Given the description of an element on the screen output the (x, y) to click on. 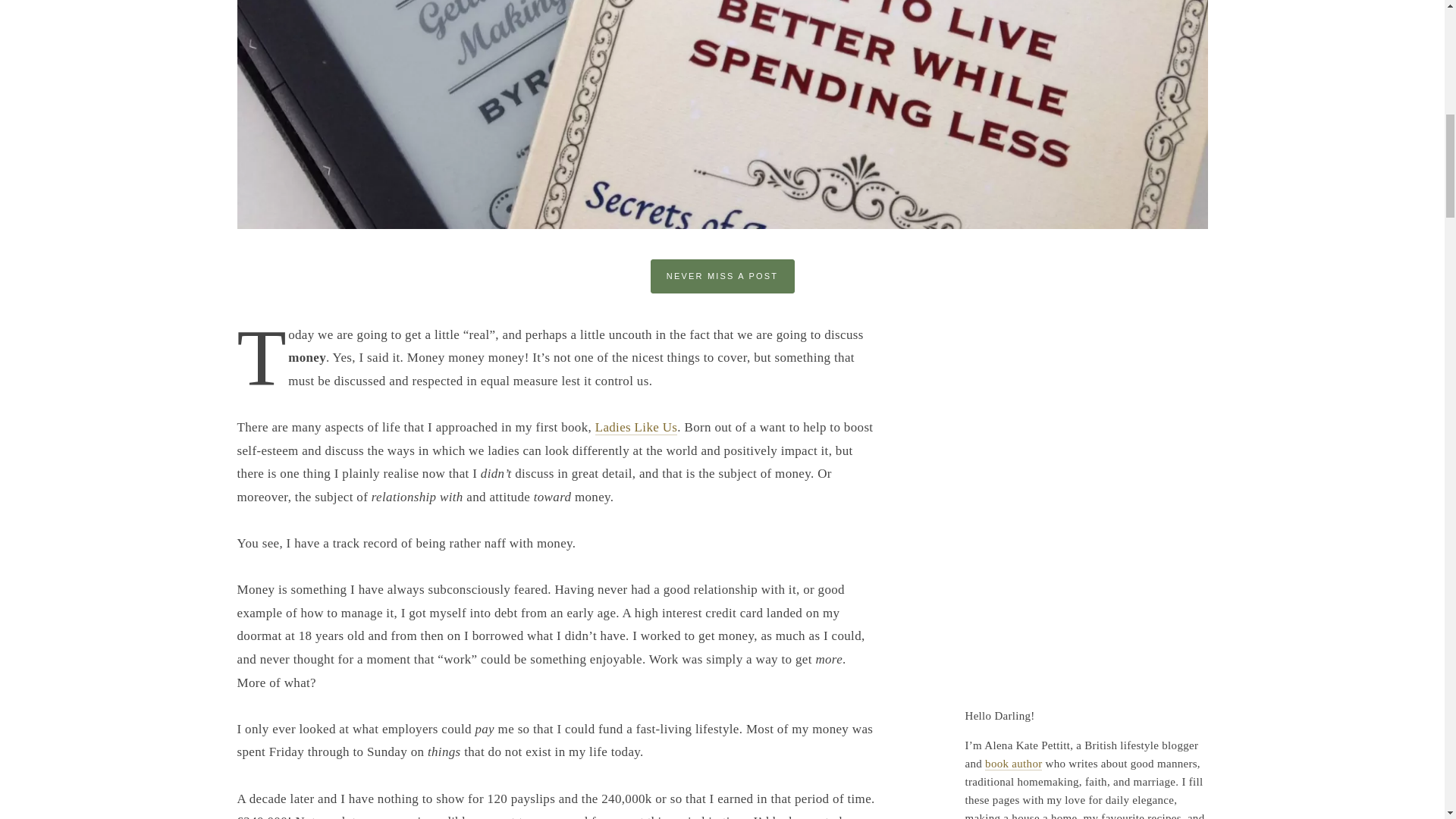
book author (1013, 763)
Subscribe to our newsletter (722, 276)
Ladies Like Us (636, 427)
NEVER MISS A POST (722, 276)
Ladies Like Us book (636, 427)
